Given the description of an element on the screen output the (x, y) to click on. 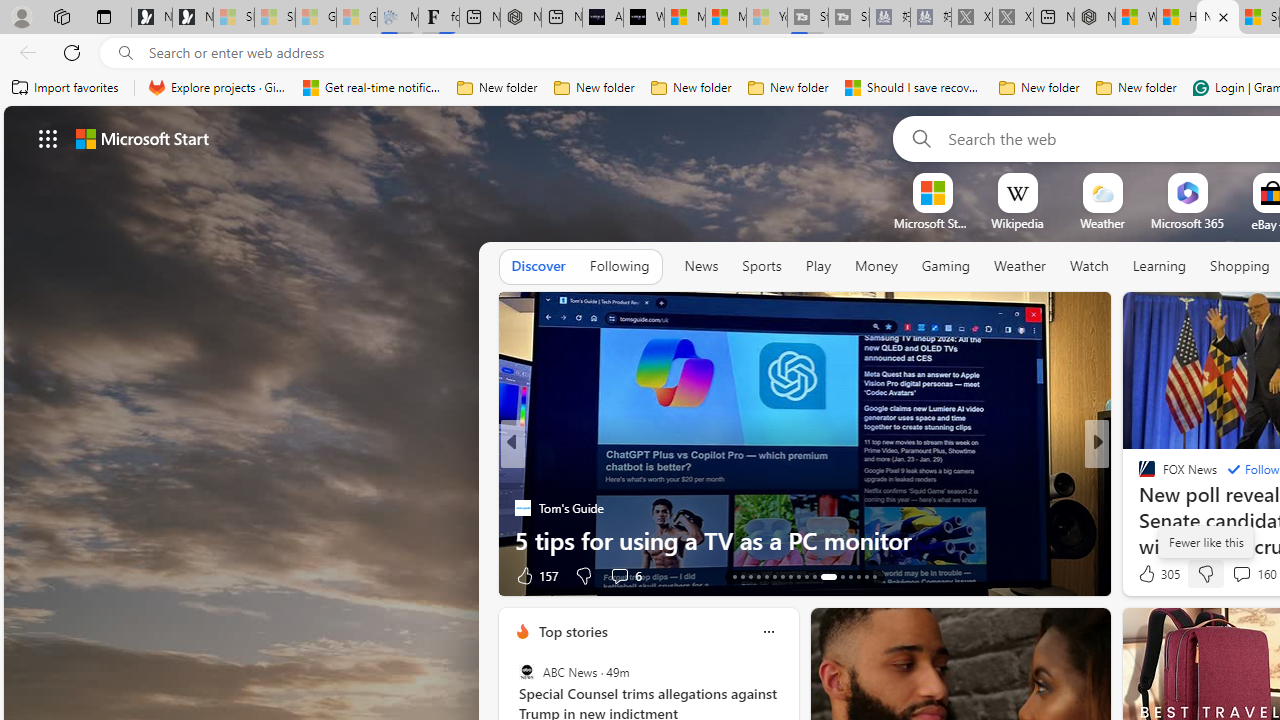
View comments 160 Comment (1241, 573)
Learning (1159, 267)
Refresh (72, 52)
AutomationID: tab-13 (733, 576)
AutomationID: tab-42 (865, 576)
Microsoft 365 (1186, 223)
AutomationID: tab-19 (782, 576)
Nordace - #1 Japanese Best-Seller - Siena Smart Backpack (520, 17)
Workspaces (61, 16)
Money (875, 265)
Weather (1020, 265)
Sports (761, 267)
